Given the description of an element on the screen output the (x, y) to click on. 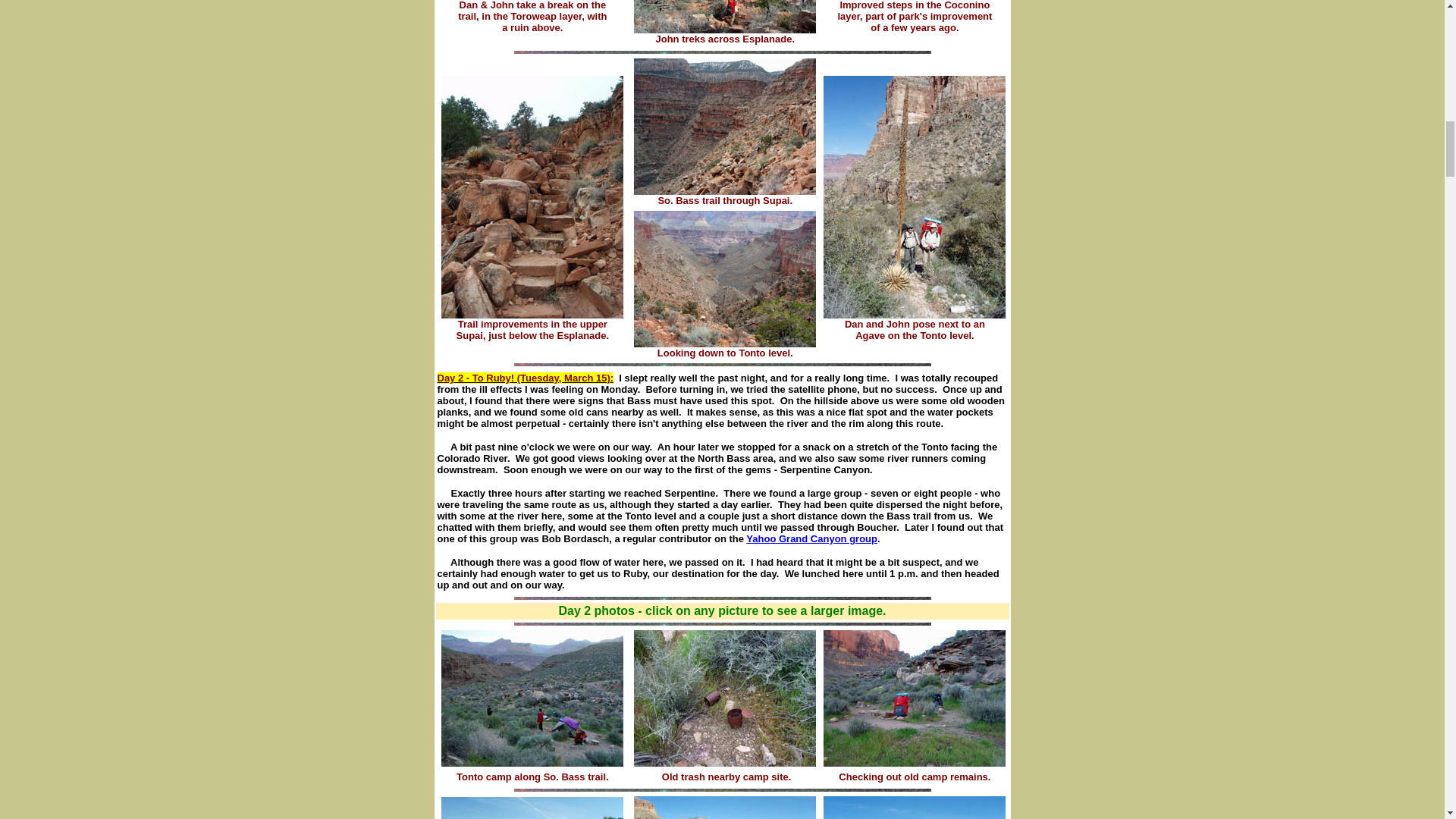
Yahoo Grand Canyon group (811, 538)
